Given the description of an element on the screen output the (x, y) to click on. 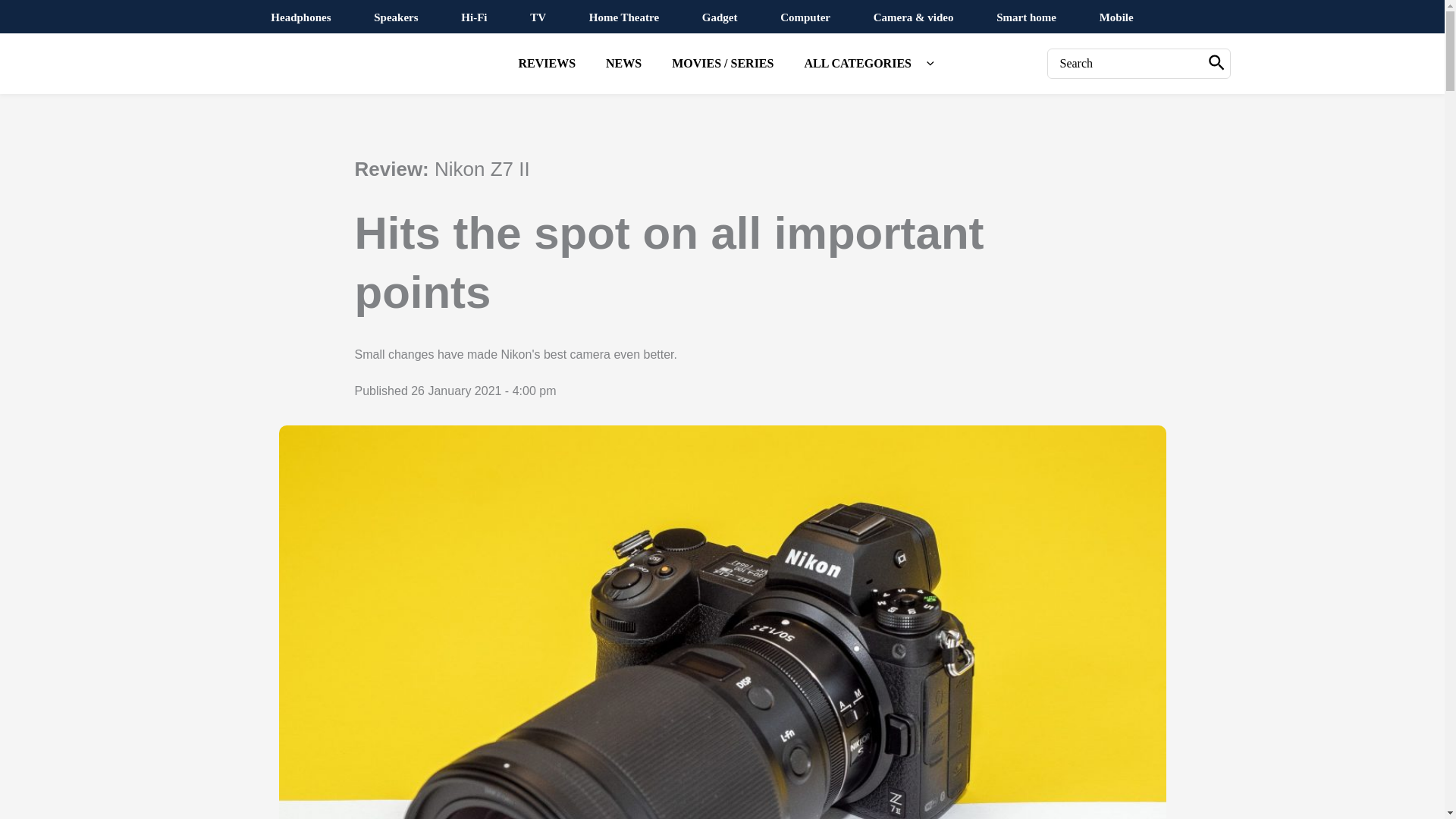
Mobile (1116, 17)
Home Theatre (624, 17)
Speakers (395, 17)
ALL CATEGORIES (864, 63)
Smart home (1026, 17)
Headphones (300, 17)
REVIEWS (546, 63)
Hi-Fi (473, 17)
Computer (804, 17)
Gadget (719, 17)
